Given the description of an element on the screen output the (x, y) to click on. 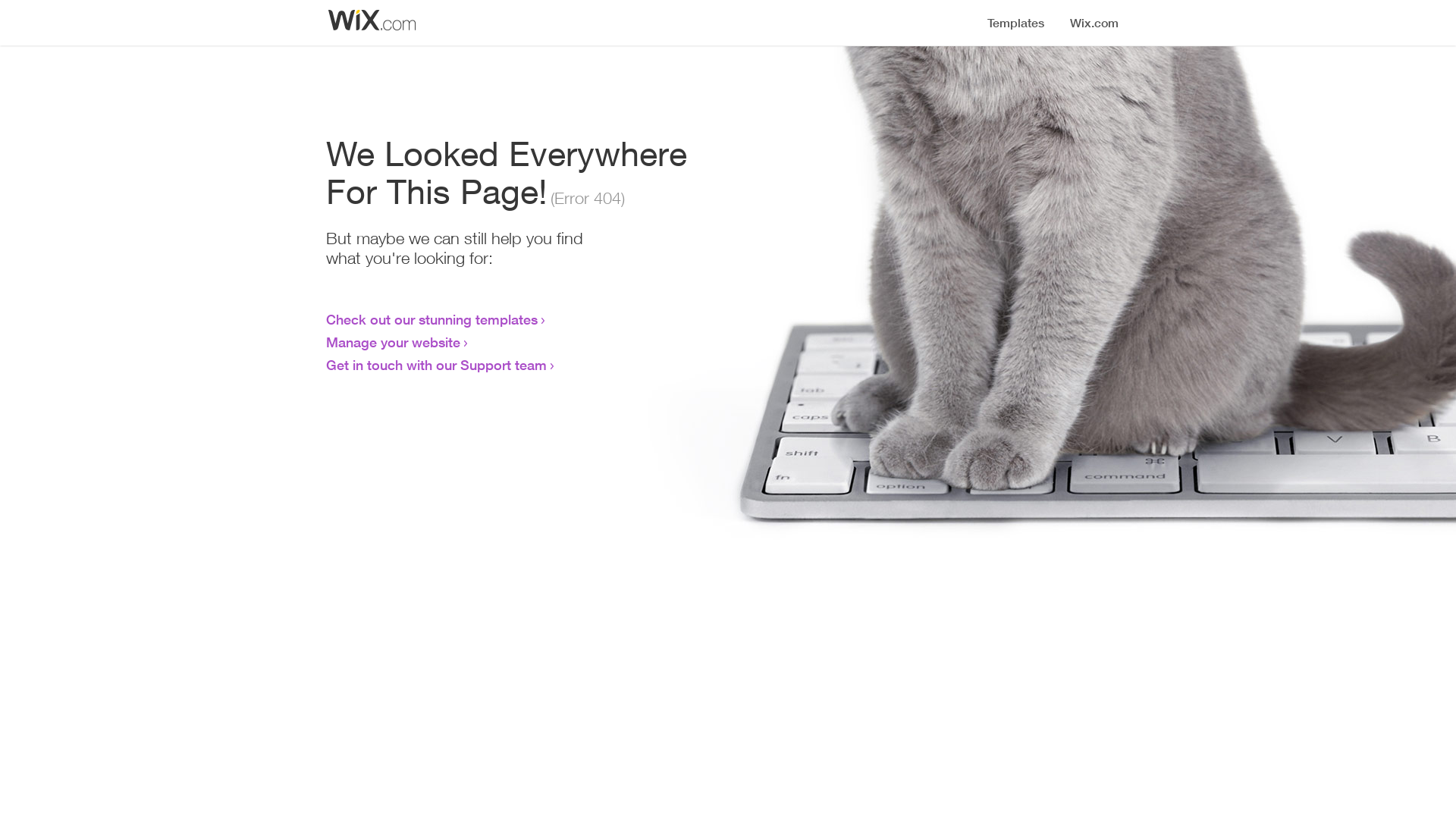
Manage your website Element type: text (393, 341)
Check out our stunning templates Element type: text (431, 318)
Get in touch with our Support team Element type: text (436, 364)
